Given the description of an element on the screen output the (x, y) to click on. 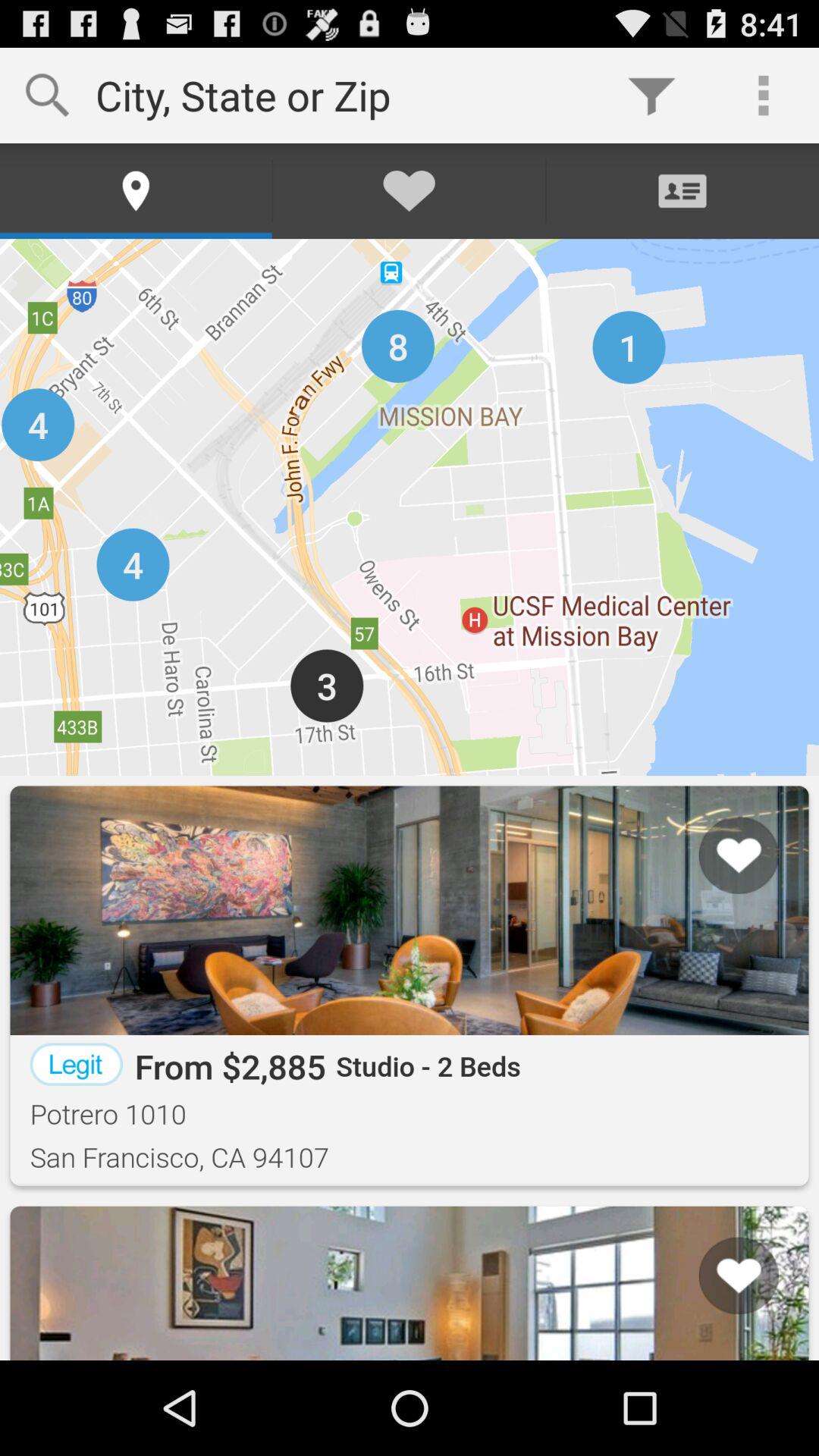
turn off icon next to city state or (651, 95)
